Given the description of an element on the screen output the (x, y) to click on. 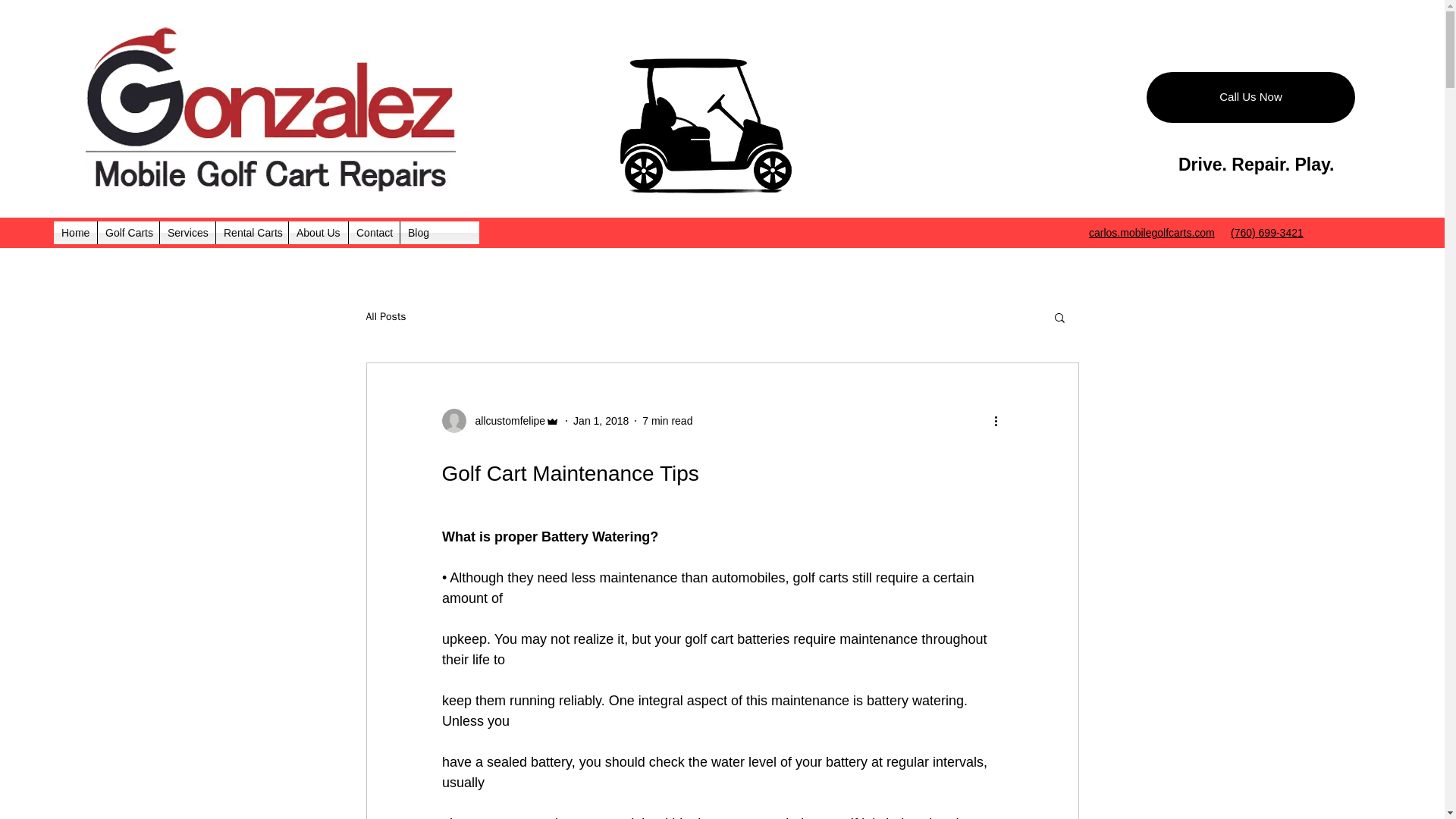
allcustomfelipe (500, 420)
carlos.mobilegolfcarts.com (1151, 232)
Call Us Now (1251, 97)
All Posts (385, 316)
Jan 1, 2018 (600, 420)
allcustomfelipe (504, 421)
Contact (373, 232)
Golf Carts (127, 232)
Blog (418, 232)
About Us (317, 232)
